Given the description of an element on the screen output the (x, y) to click on. 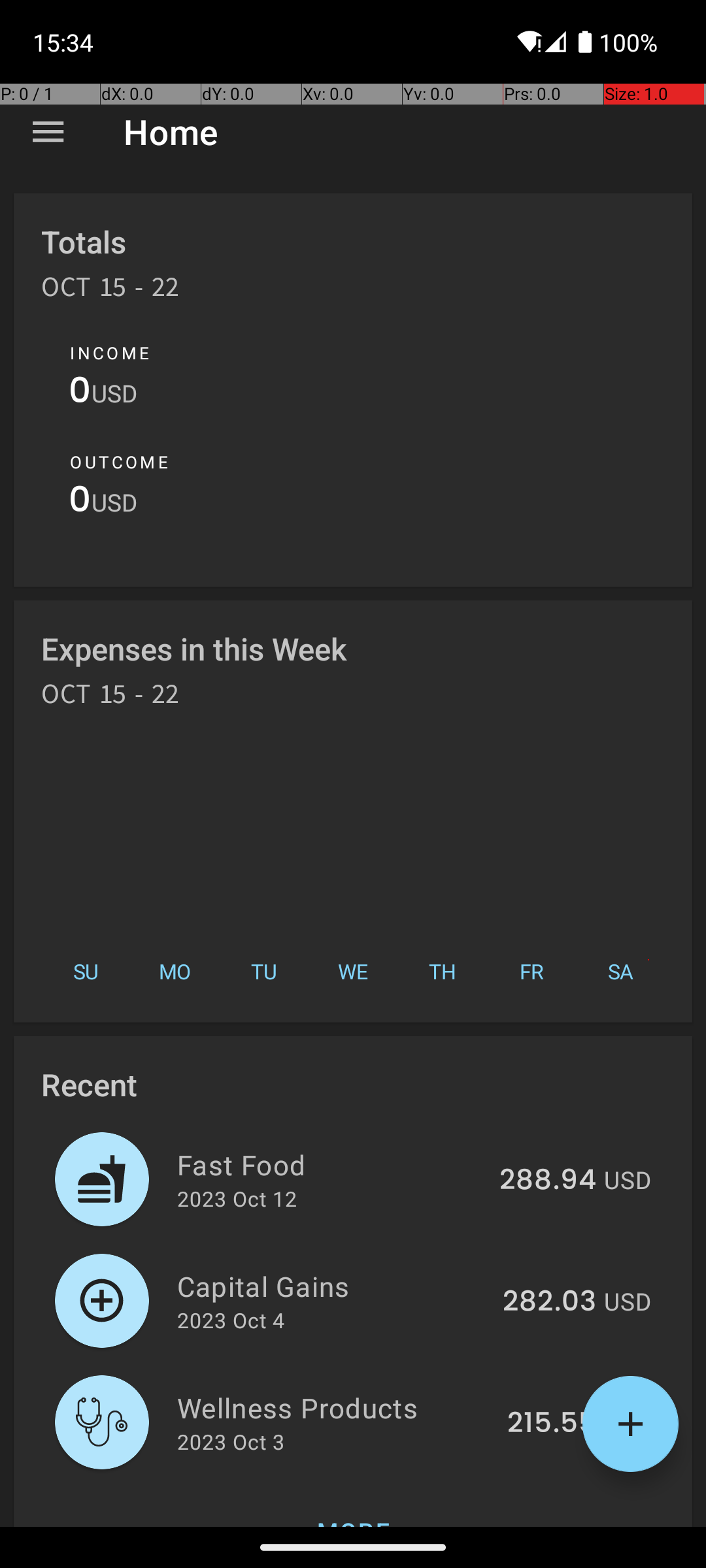
Fast Food Element type: android.widget.TextView (330, 1164)
288.94 Element type: android.widget.TextView (547, 1180)
2023 Oct 4 Element type: android.widget.TextView (230, 1320)
282.03 Element type: android.widget.TextView (549, 1301)
2023 Oct 3 Element type: android.widget.TextView (230, 1441)
215.55 Element type: android.widget.TextView (551, 1423)
